Given the description of an element on the screen output the (x, y) to click on. 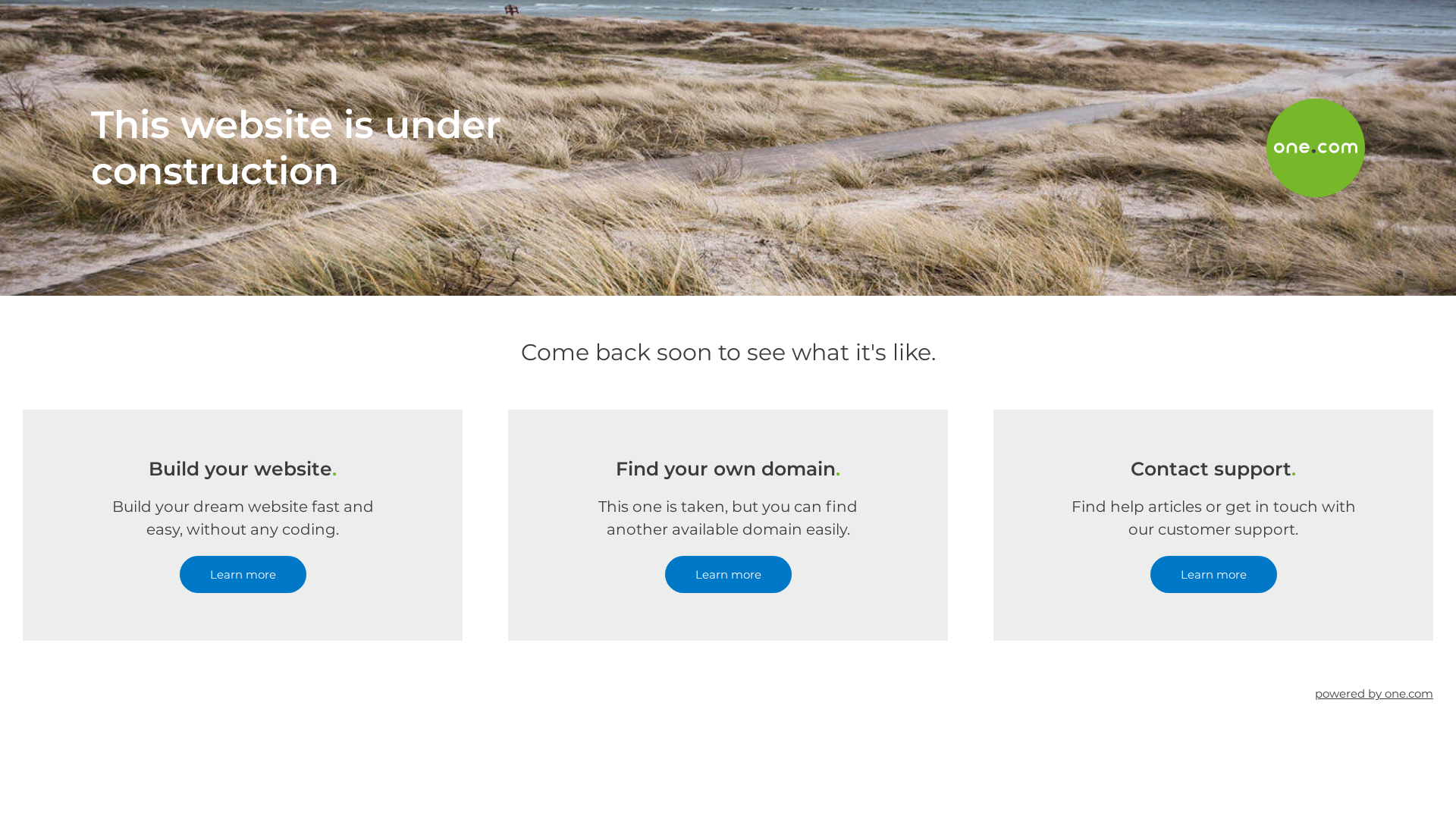
Learn more Element type: text (1212, 574)
powered by one.com Element type: text (1373, 693)
Learn more Element type: text (727, 574)
Learn more Element type: text (241, 574)
